Given the description of an element on the screen output the (x, y) to click on. 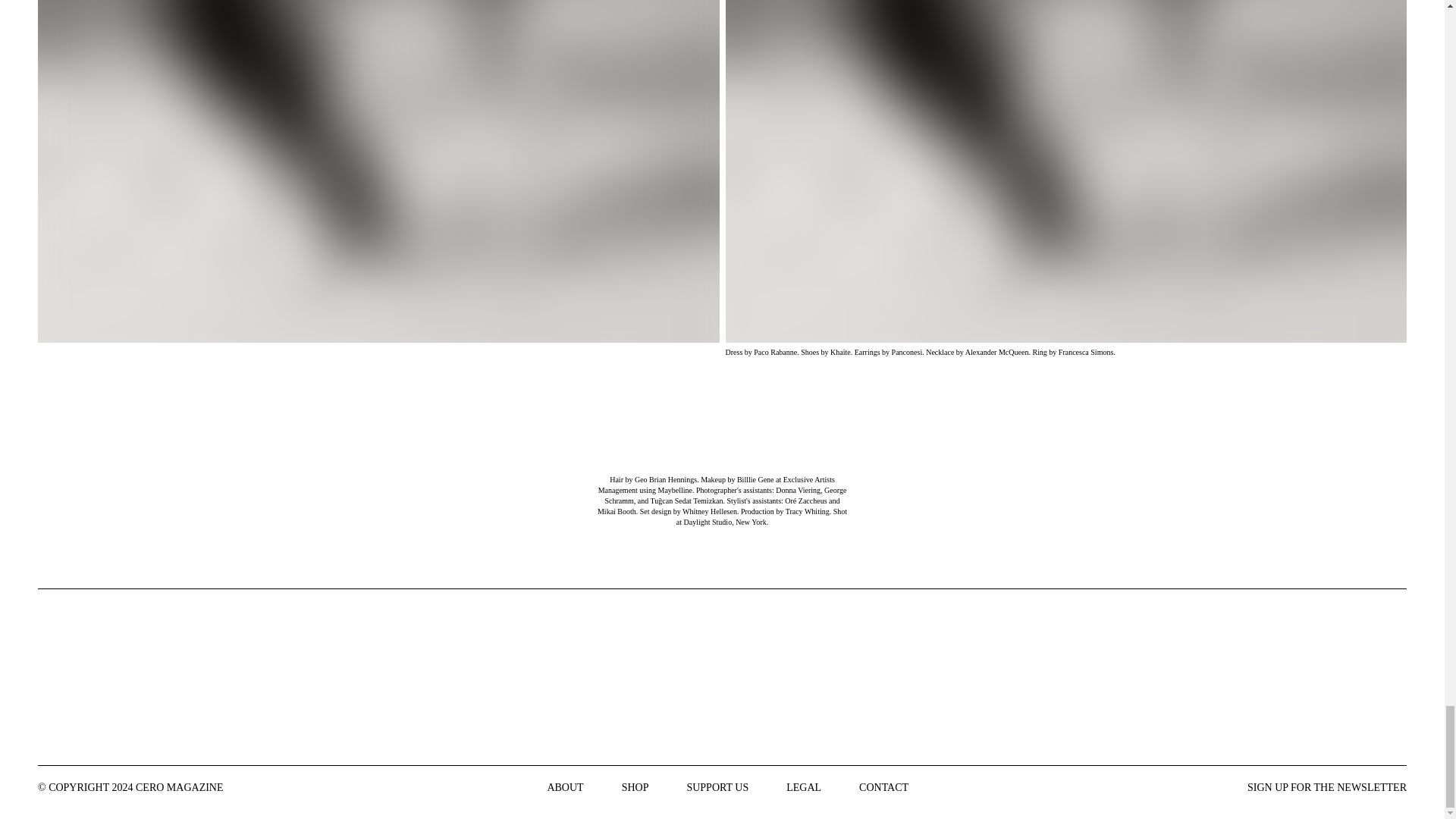
ABOUT (565, 787)
SHOP (635, 787)
CONTACT (883, 787)
LEGAL (803, 787)
SUPPORT US (716, 787)
